Given the description of an element on the screen output the (x, y) to click on. 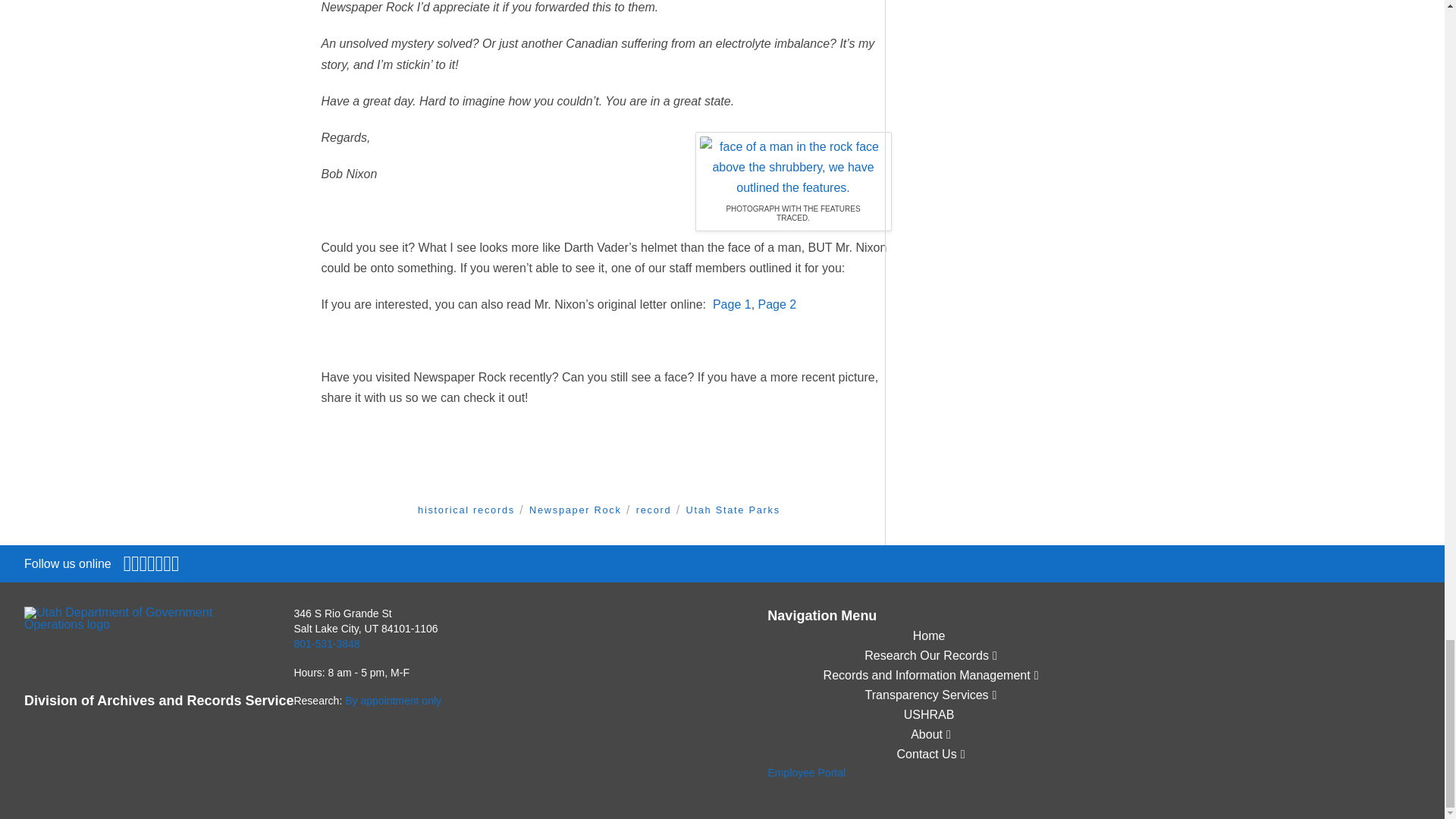
record (652, 509)
Utah State Parks (731, 509)
Newspaper Rock (574, 509)
Page 2 (777, 304)
Page 1 (732, 304)
historical records (465, 509)
